Given the description of an element on the screen output the (x, y) to click on. 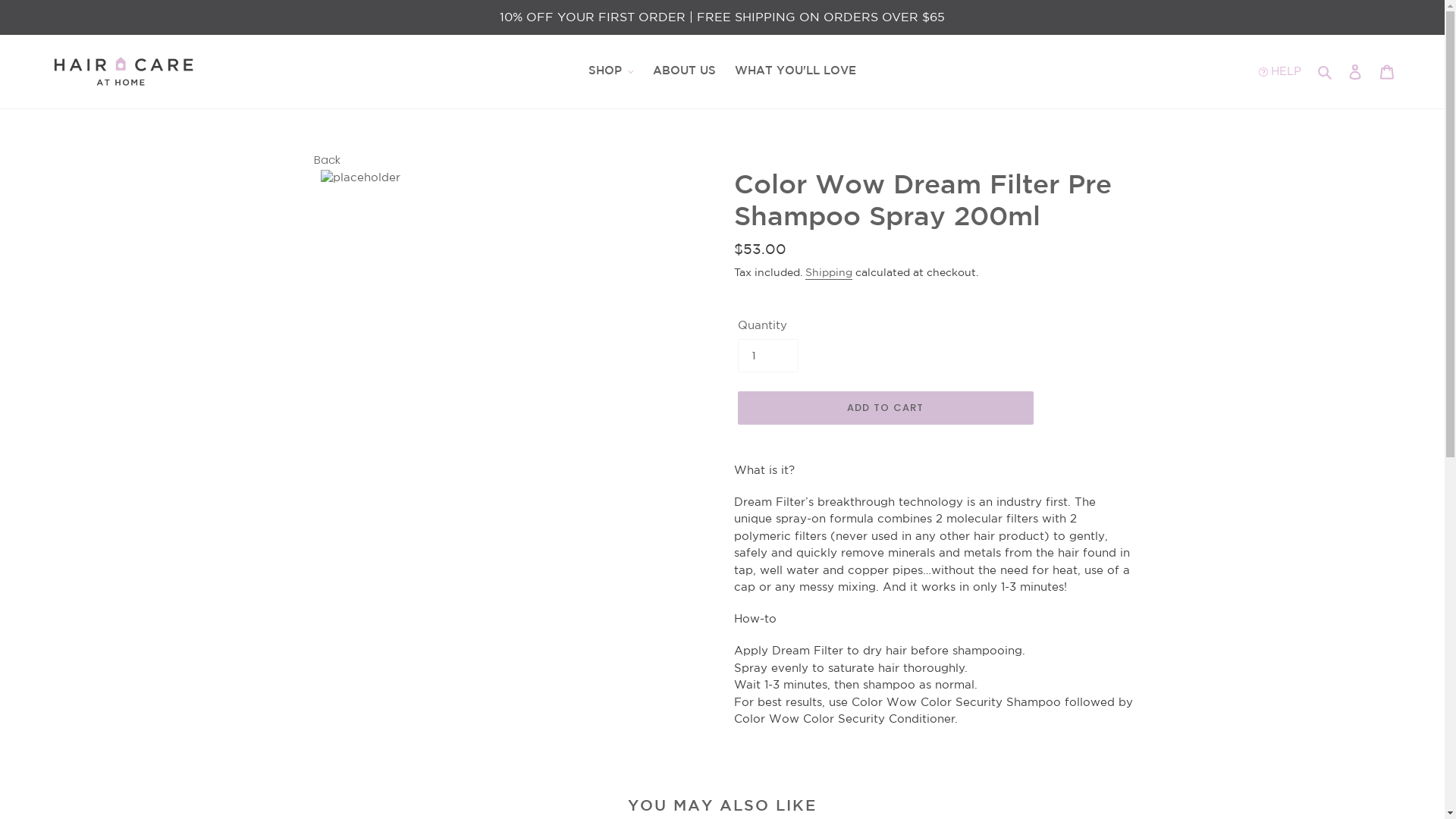
Search Element type: text (1325, 71)
WHAT YOU'LL LOVE Element type: text (795, 71)
HELP Element type: text (1291, 71)
ABOUT US Element type: text (684, 71)
Log in Element type: text (1355, 71)
Shipping Element type: text (828, 274)
Cart Element type: text (1386, 71)
ADD TO CART Element type: text (884, 407)
SHOP Element type: text (610, 71)
Back Element type: text (327, 159)
